Given the description of an element on the screen output the (x, y) to click on. 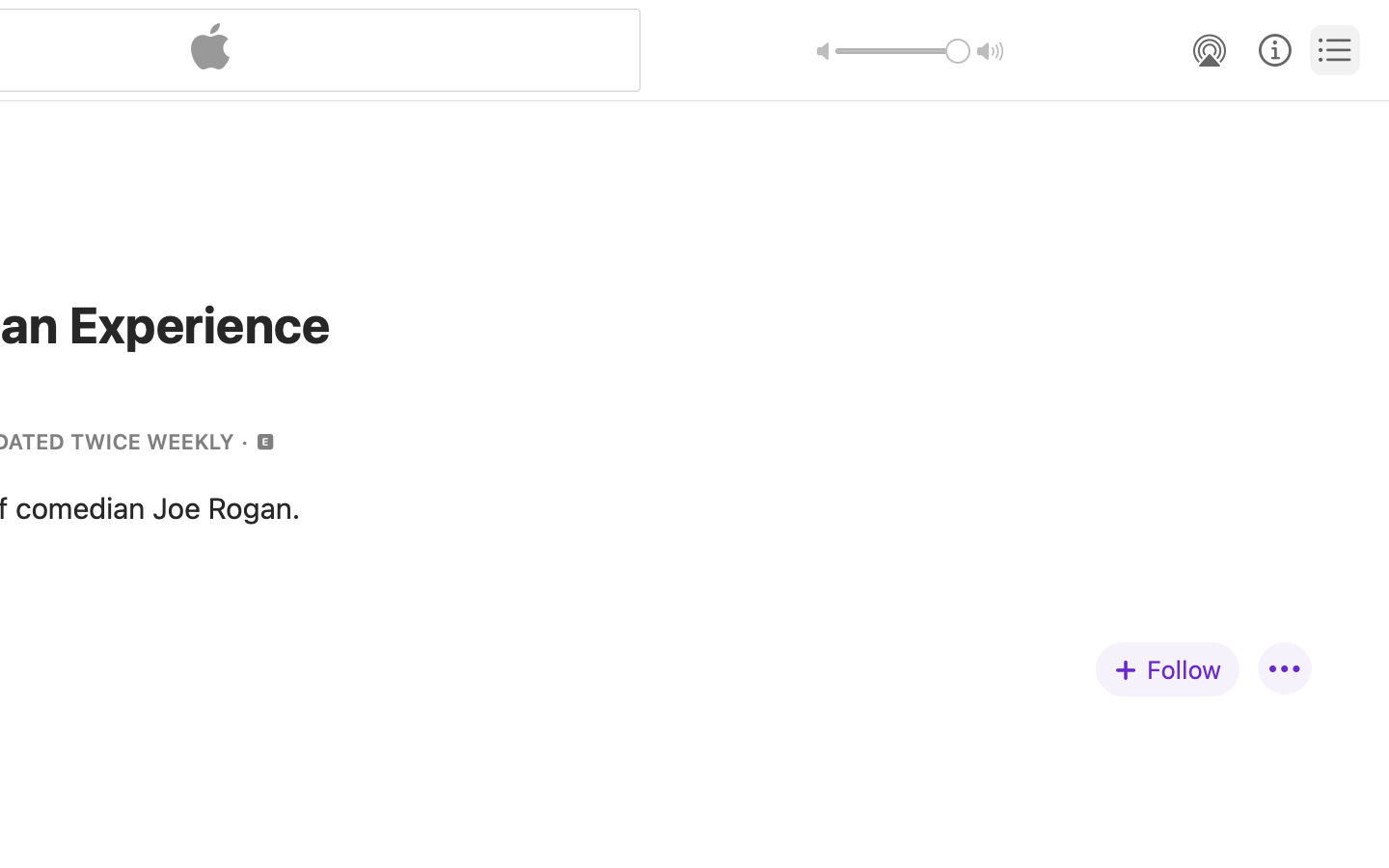
1.0 Element type: AXSlider (902, 50)
